Given the description of an element on the screen output the (x, y) to click on. 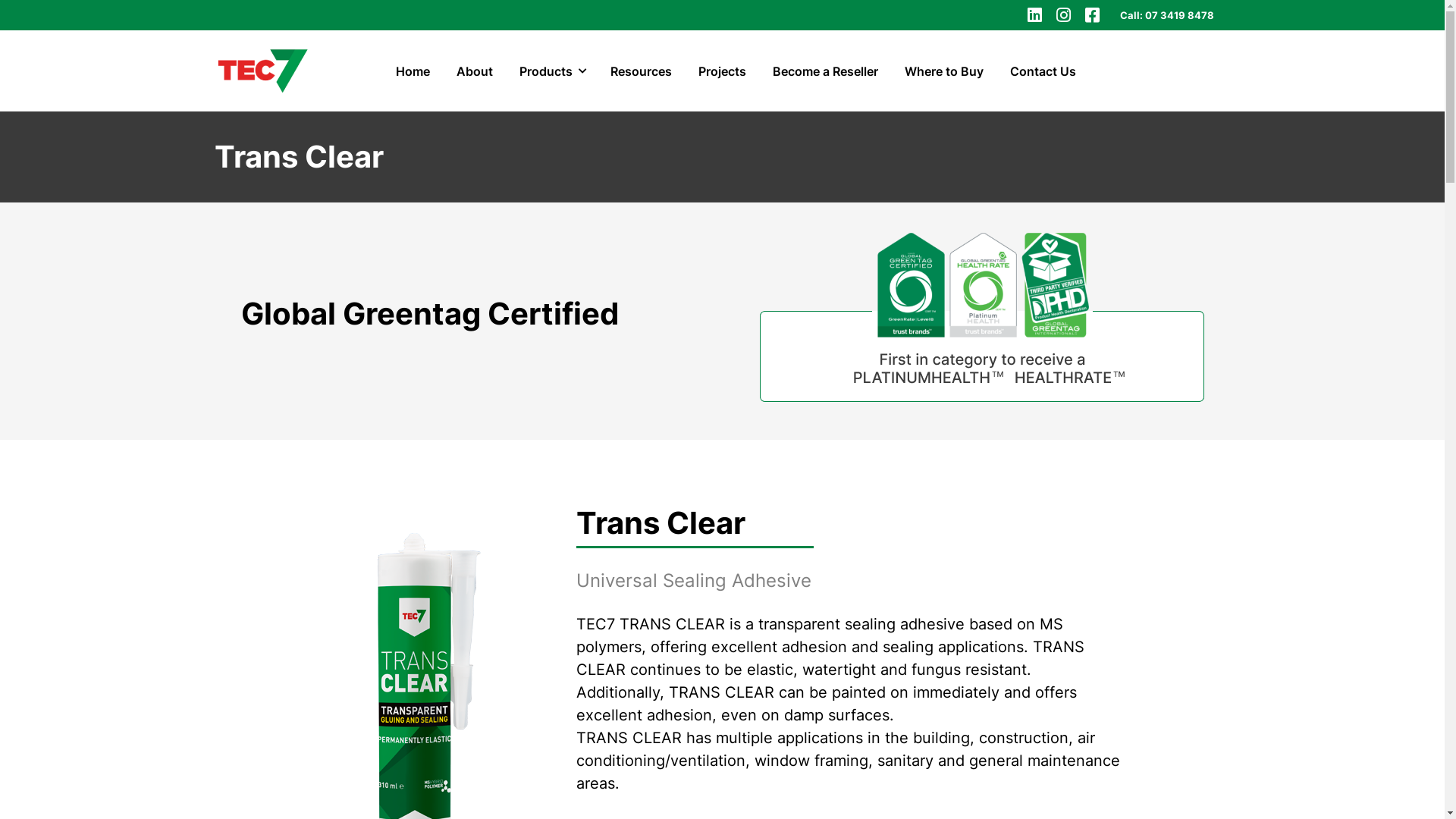
Contact Us Element type: text (1047, 71)
Call: 07 3419 8478 Element type: text (1166, 15)
Products Element type: text (556, 71)
Become a Reseller Element type: text (830, 71)
Where to Buy Element type: text (948, 71)
About Element type: text (479, 71)
Projects Element type: text (727, 71)
Home Element type: text (417, 71)
Resources Element type: text (646, 71)
